Given the description of an element on the screen output the (x, y) to click on. 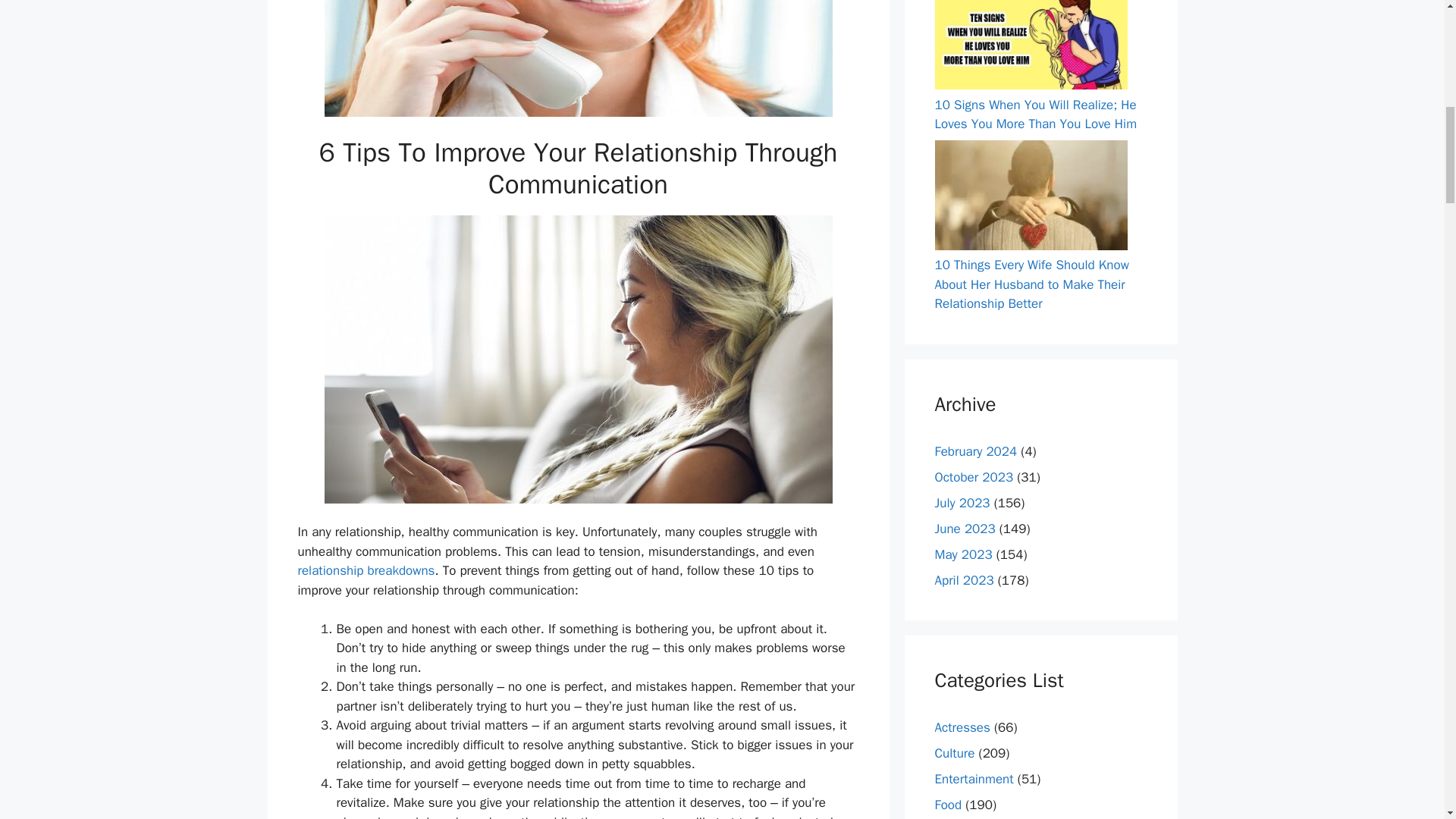
relationship breakdowns (365, 570)
